Given the description of an element on the screen output the (x, y) to click on. 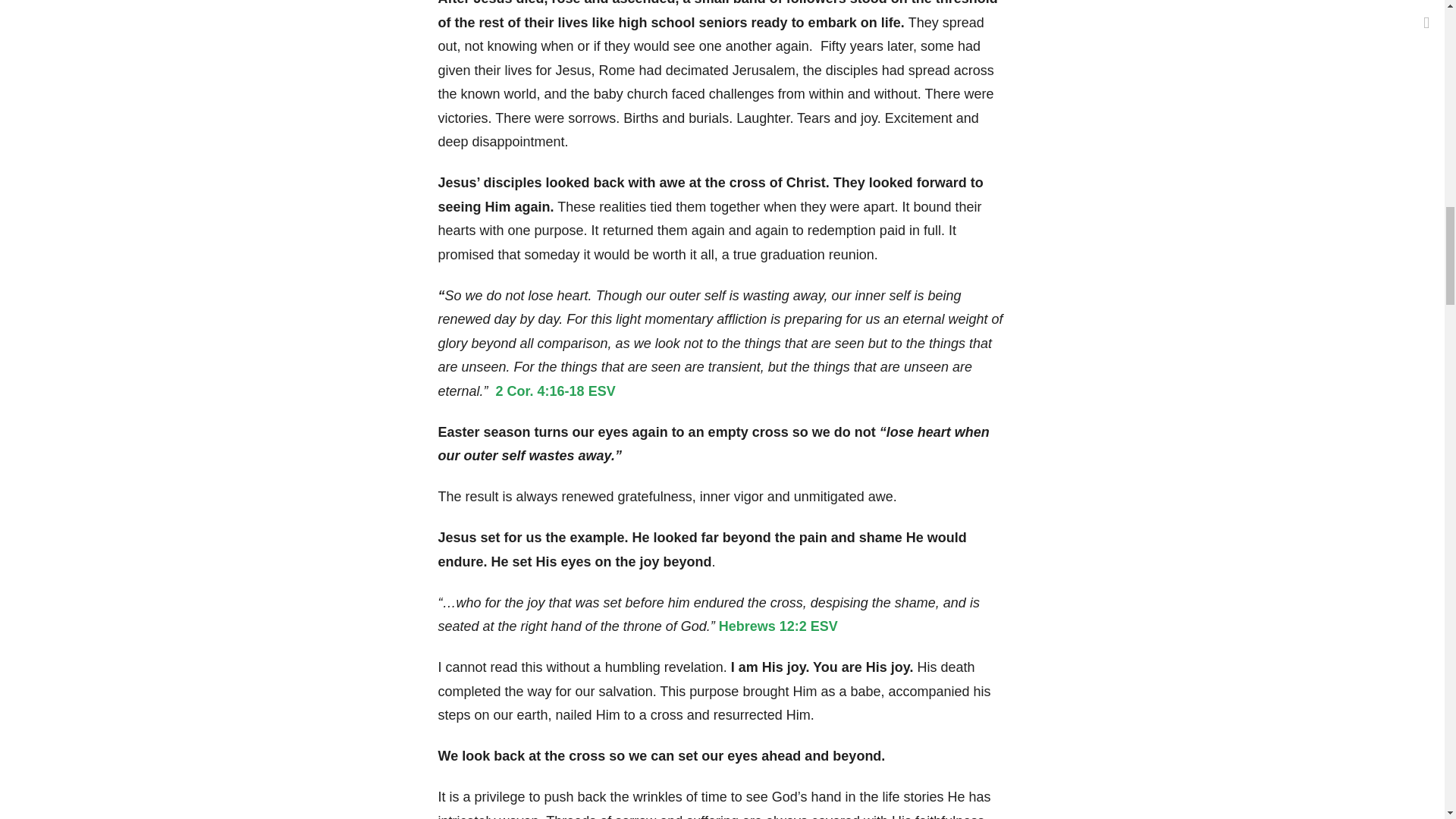
2 Cor. 4:16-18 ESV (555, 391)
Hebrews 12:2 ESV (776, 626)
